Given the description of an element on the screen output the (x, y) to click on. 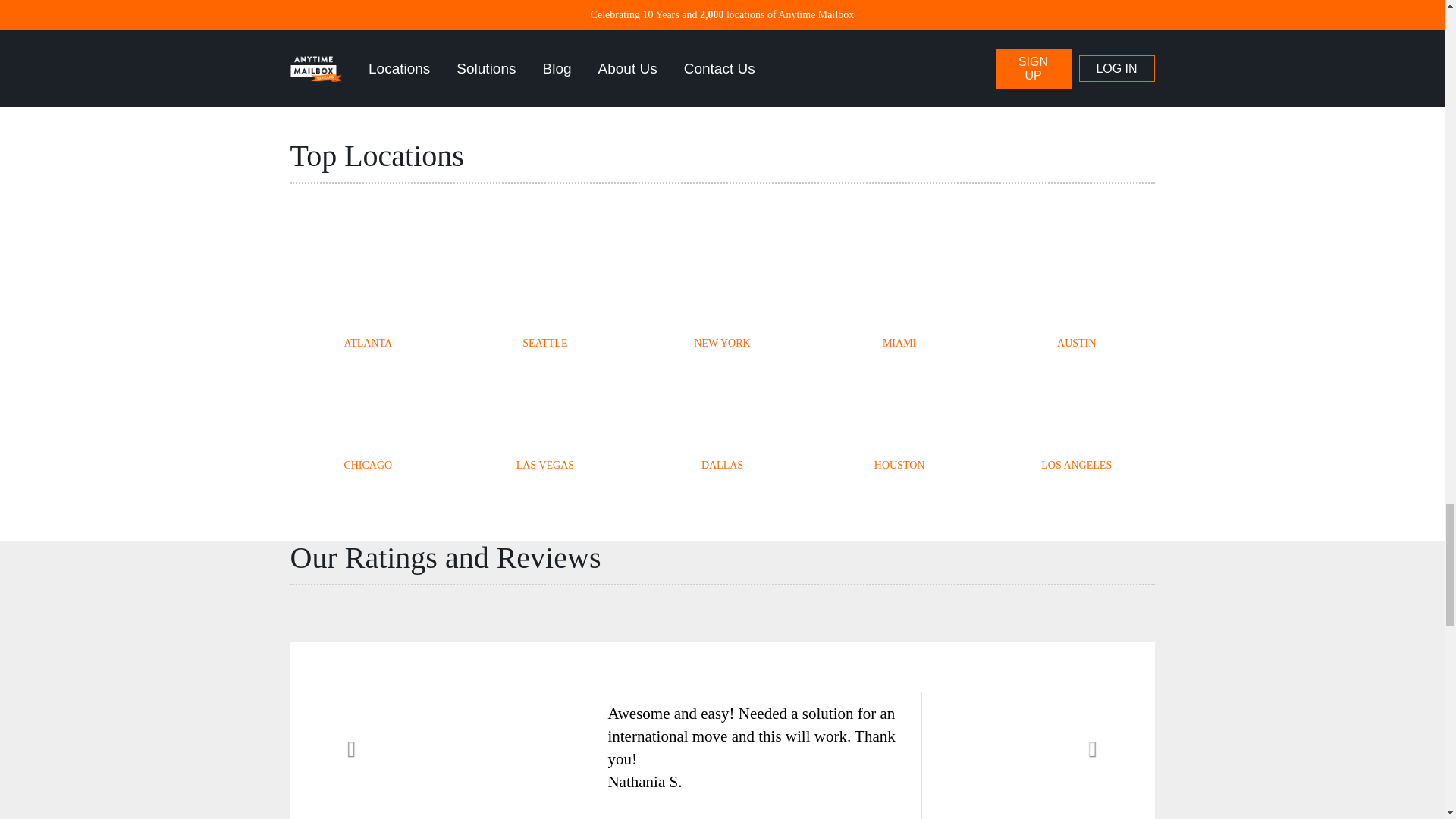
Dallas-TX (722, 413)
Houston-TX (898, 413)
Seattle-WA (545, 291)
Miami-FL (898, 291)
Las-Vegas-NV (545, 413)
Austin-TX (1076, 291)
Chicago-IL (367, 413)
Los-Angeles-CA (1076, 413)
Atlanta-GA (367, 291)
New-York-NY (722, 291)
